Given the description of an element on the screen output the (x, y) to click on. 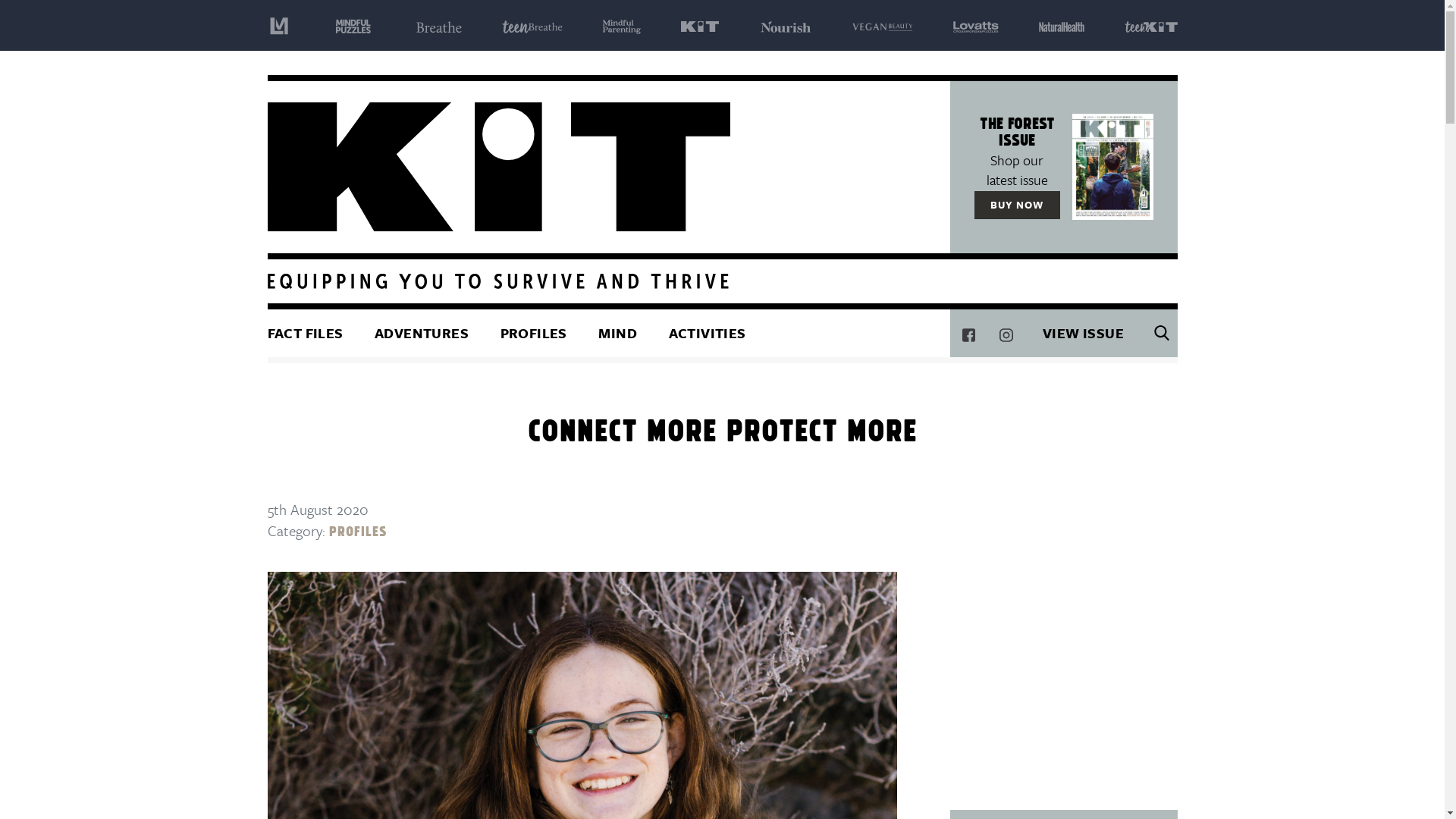
MIND Element type: text (617, 332)
PROFILES Element type: text (533, 332)
BUY NOW Element type: text (1016, 204)
PROFILES Element type: text (358, 531)
ACTIVITIES Element type: text (707, 332)
ADVENTURES Element type: text (421, 332)
FACT FILES Element type: text (312, 332)
VIEW ISSUE Element type: text (1083, 333)
